Given the description of an element on the screen output the (x, y) to click on. 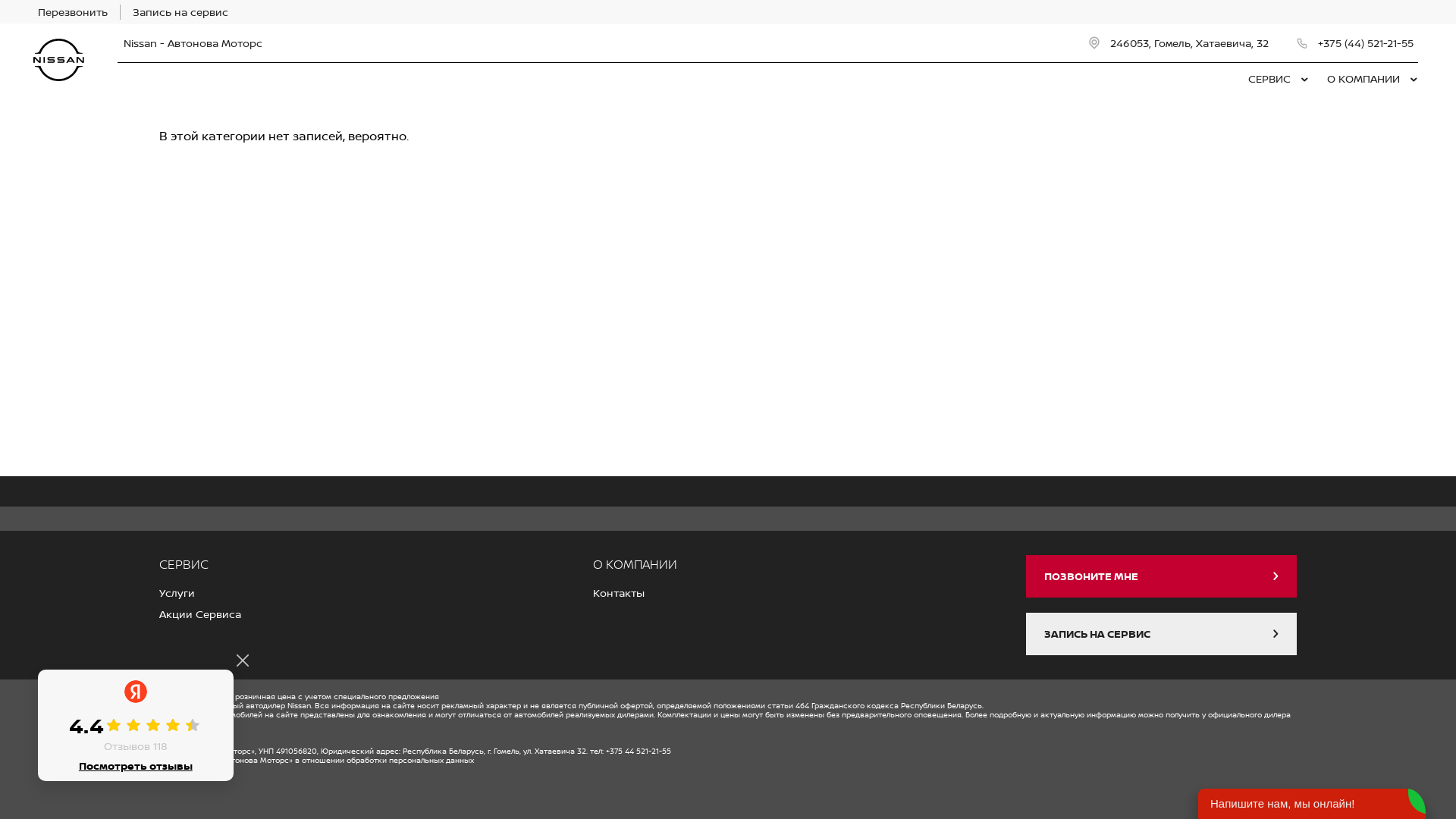
+375 (44) 521-21-55 Element type: text (1356, 42)
